Given the description of an element on the screen output the (x, y) to click on. 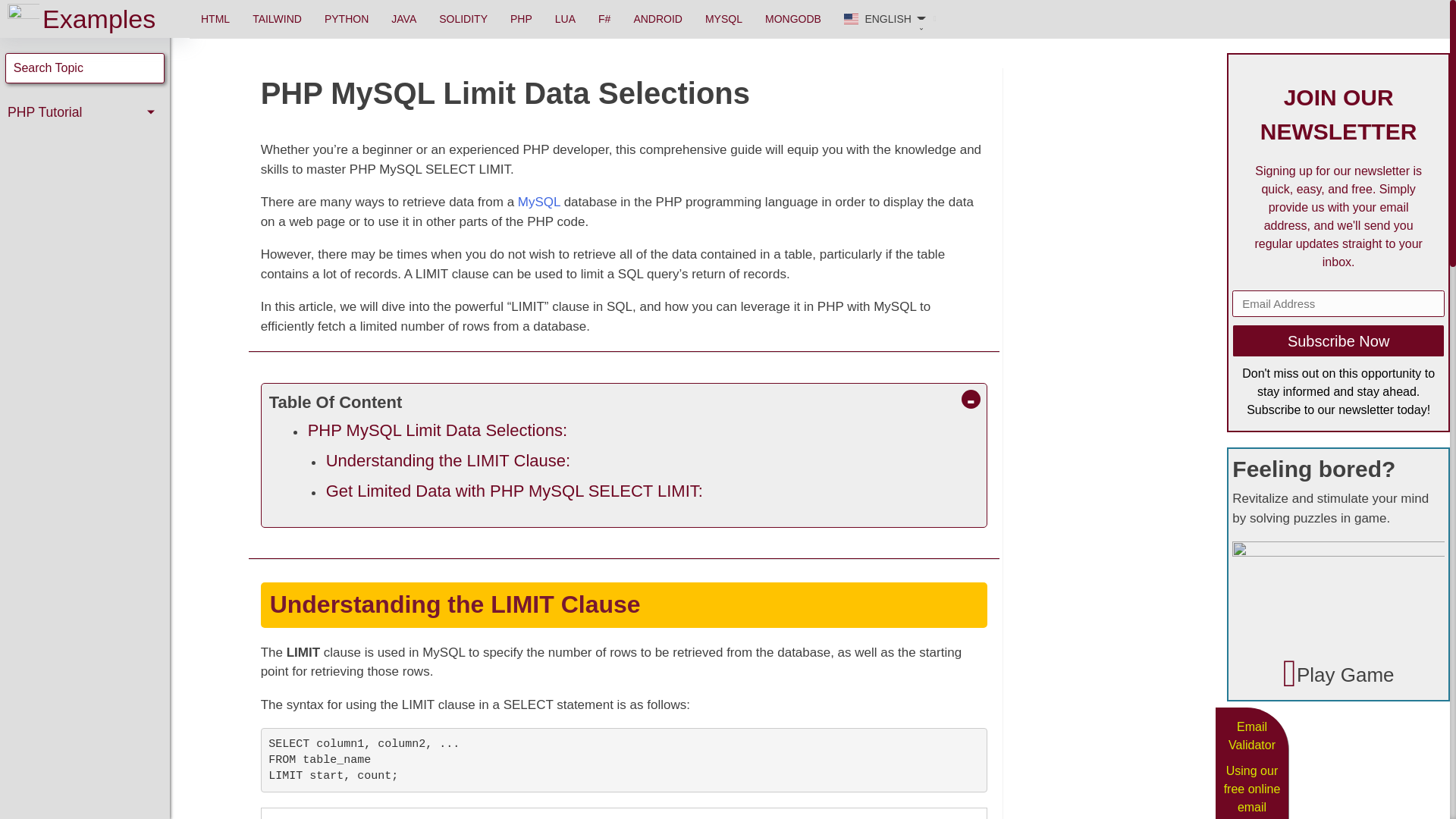
Subscribe Now (1337, 340)
PYTHON (346, 18)
SOLIDITY (463, 18)
MONGODB (793, 18)
MYSQL (724, 18)
collapse (969, 398)
ANDROID (657, 18)
ENGLISH (889, 19)
PHP (521, 18)
PHP Tutorial (85, 112)
LUA (564, 18)
TAILWIND (277, 18)
HTML (215, 18)
JAVA (404, 18)
